Given the description of an element on the screen output the (x, y) to click on. 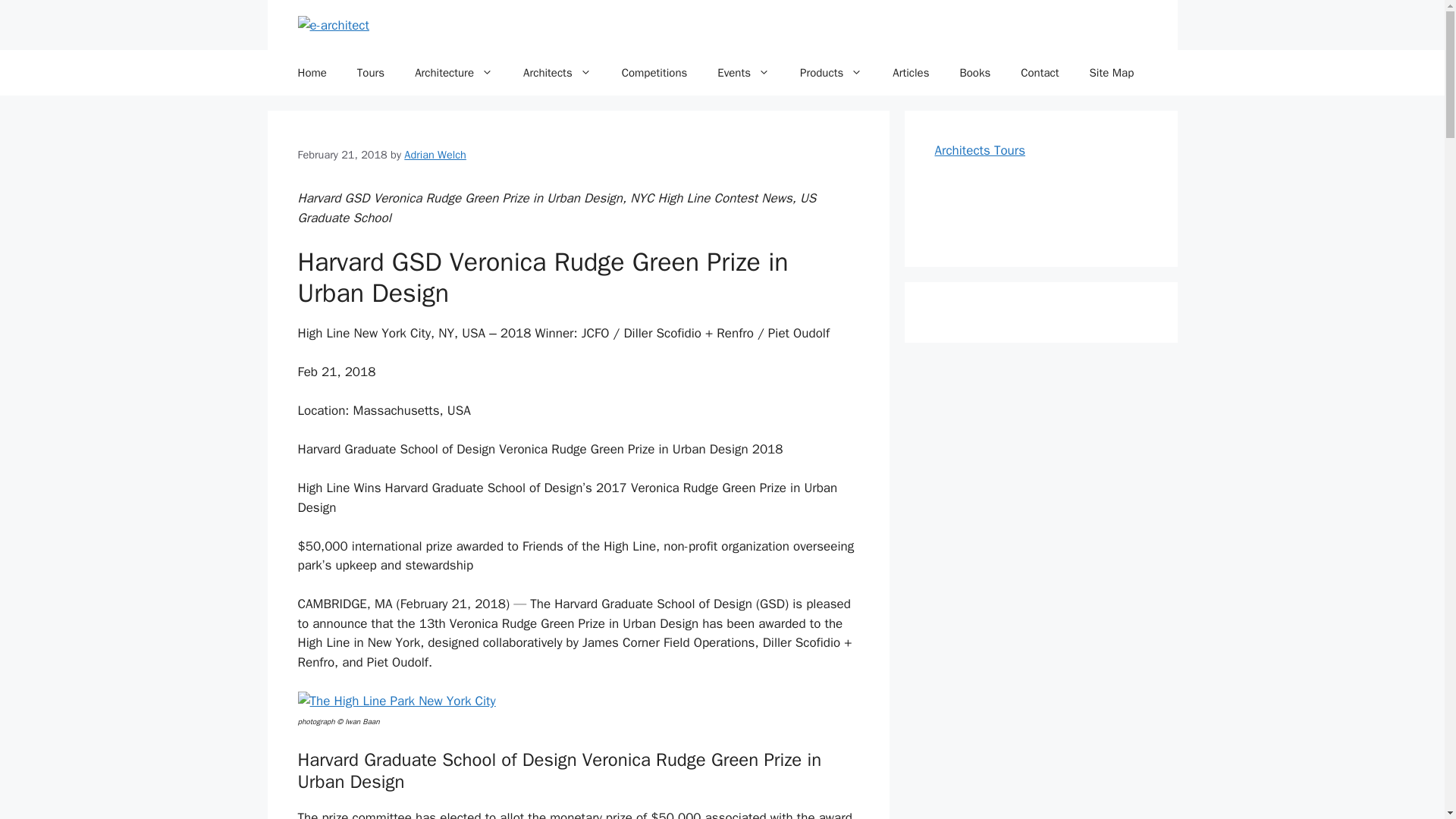
Contact (1040, 72)
Home (311, 72)
View all posts by Adrian Welch (434, 154)
Architecture (453, 72)
Events (742, 72)
Competitions (655, 72)
Home (311, 72)
Articles (910, 72)
Products (830, 72)
Architects (557, 72)
Adrian Welch (434, 154)
Books (974, 72)
Site Map (1112, 72)
Tours (370, 72)
